Given the description of an element on the screen output the (x, y) to click on. 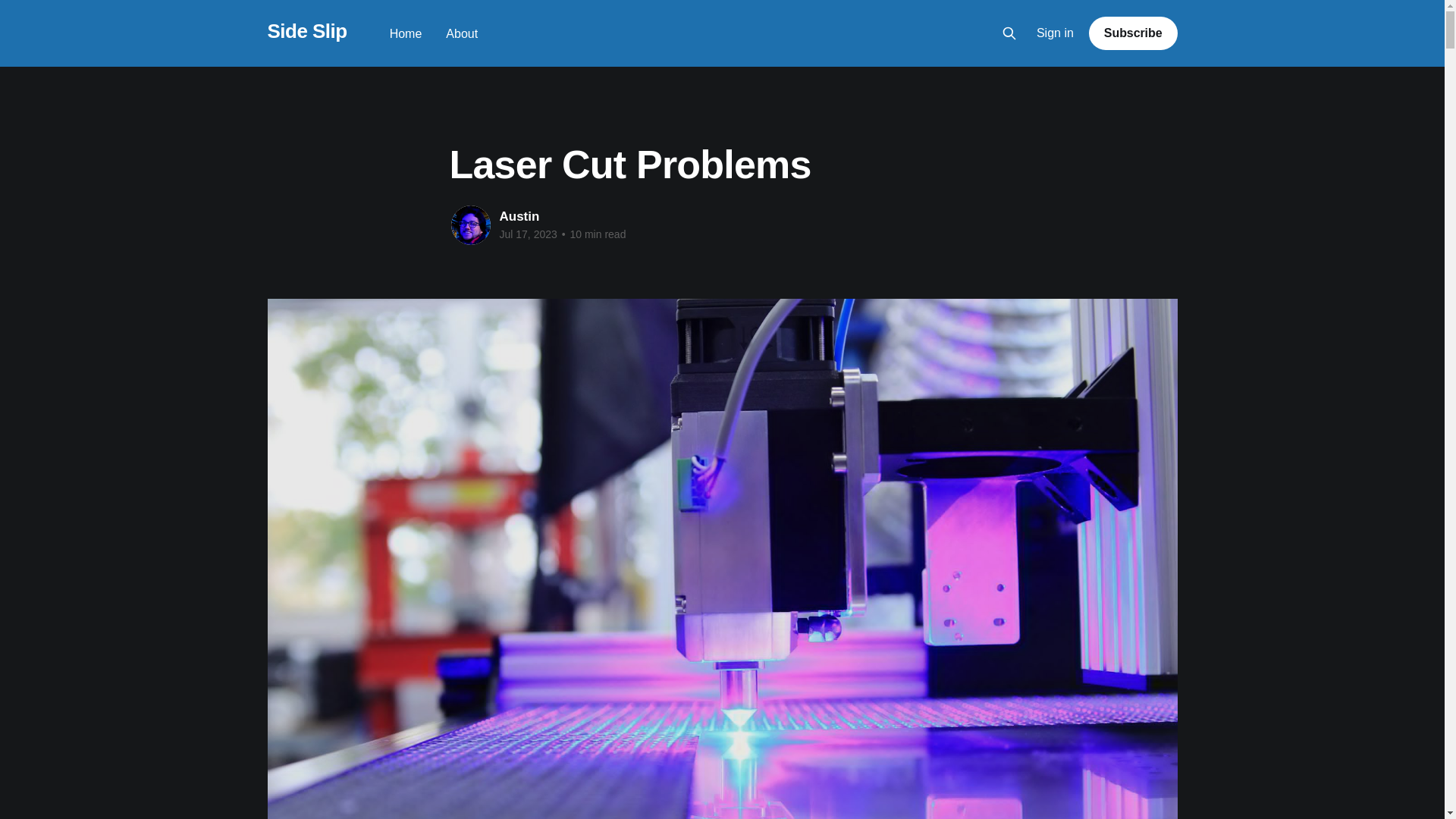
Austin (518, 216)
Home (406, 33)
About (461, 33)
Subscribe (1133, 32)
Sign in (1055, 33)
Side Slip (306, 31)
